Given the description of an element on the screen output the (x, y) to click on. 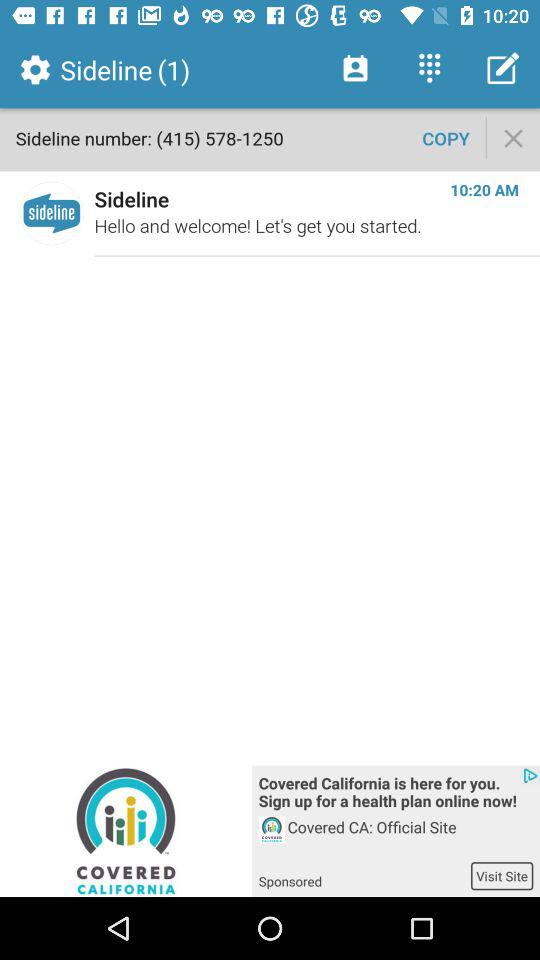
choose the sponsored item (364, 875)
